Given the description of an element on the screen output the (x, y) to click on. 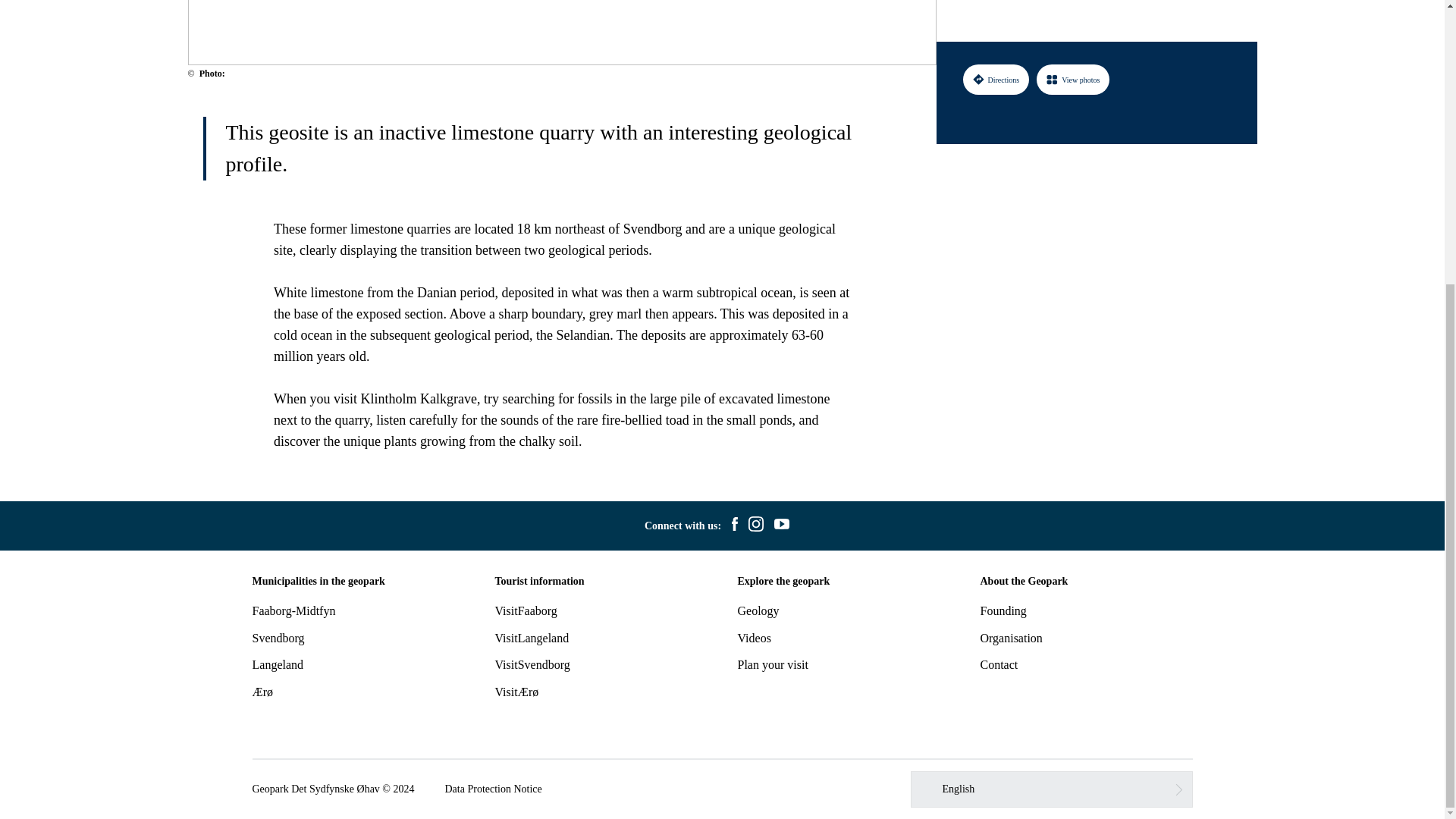
Plan your visit (772, 664)
facebook (734, 525)
VisitSvendborg (532, 664)
Data Protection Notice (492, 789)
Geology (757, 610)
Contact (998, 664)
Geology (757, 610)
VisitLangeland (532, 637)
Svendborg (277, 637)
VisitSvendborg (532, 664)
